Given the description of an element on the screen output the (x, y) to click on. 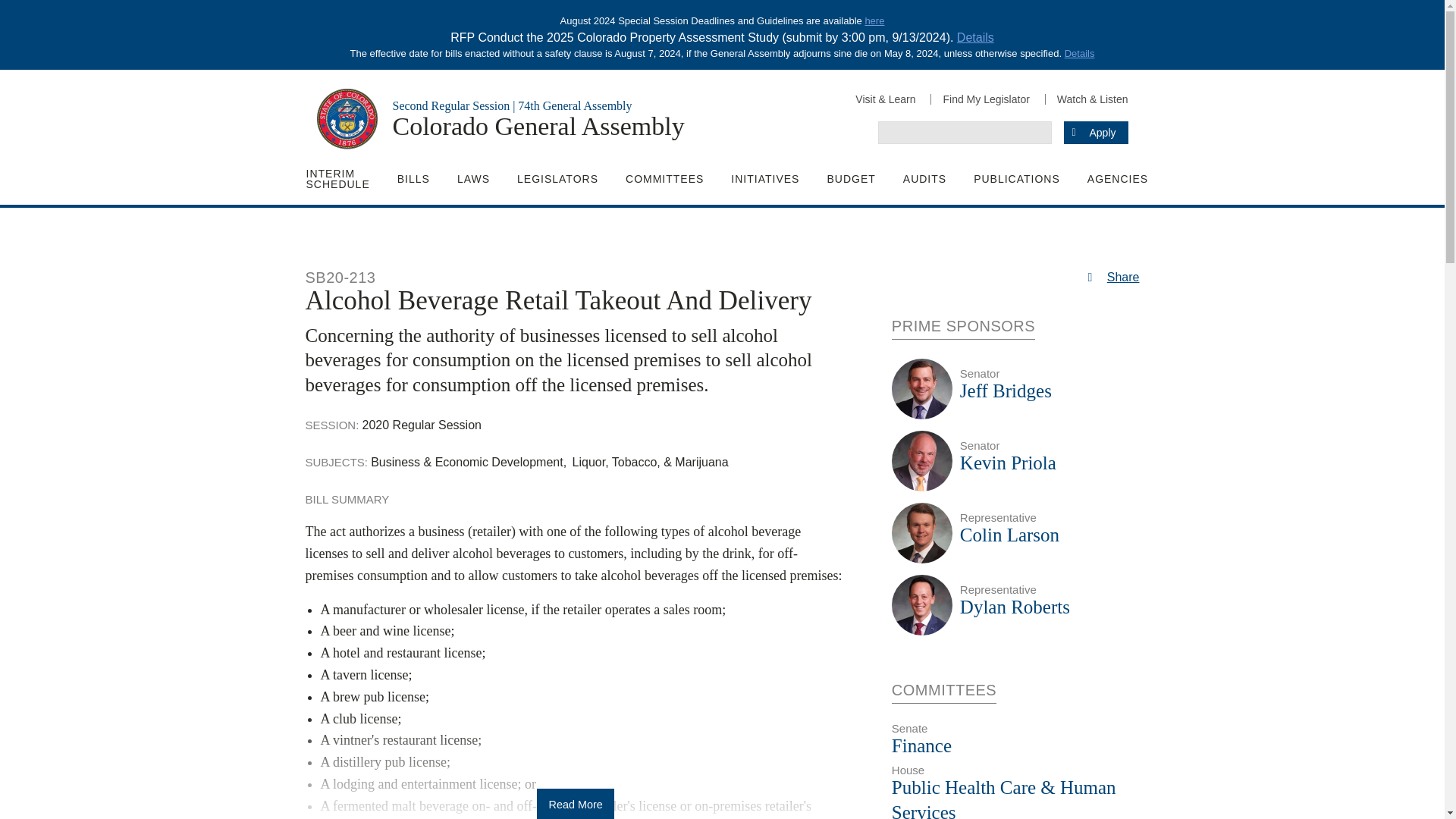
Details (975, 37)
Details (1079, 52)
Apply (1094, 132)
here (873, 20)
